Given the description of an element on the screen output the (x, y) to click on. 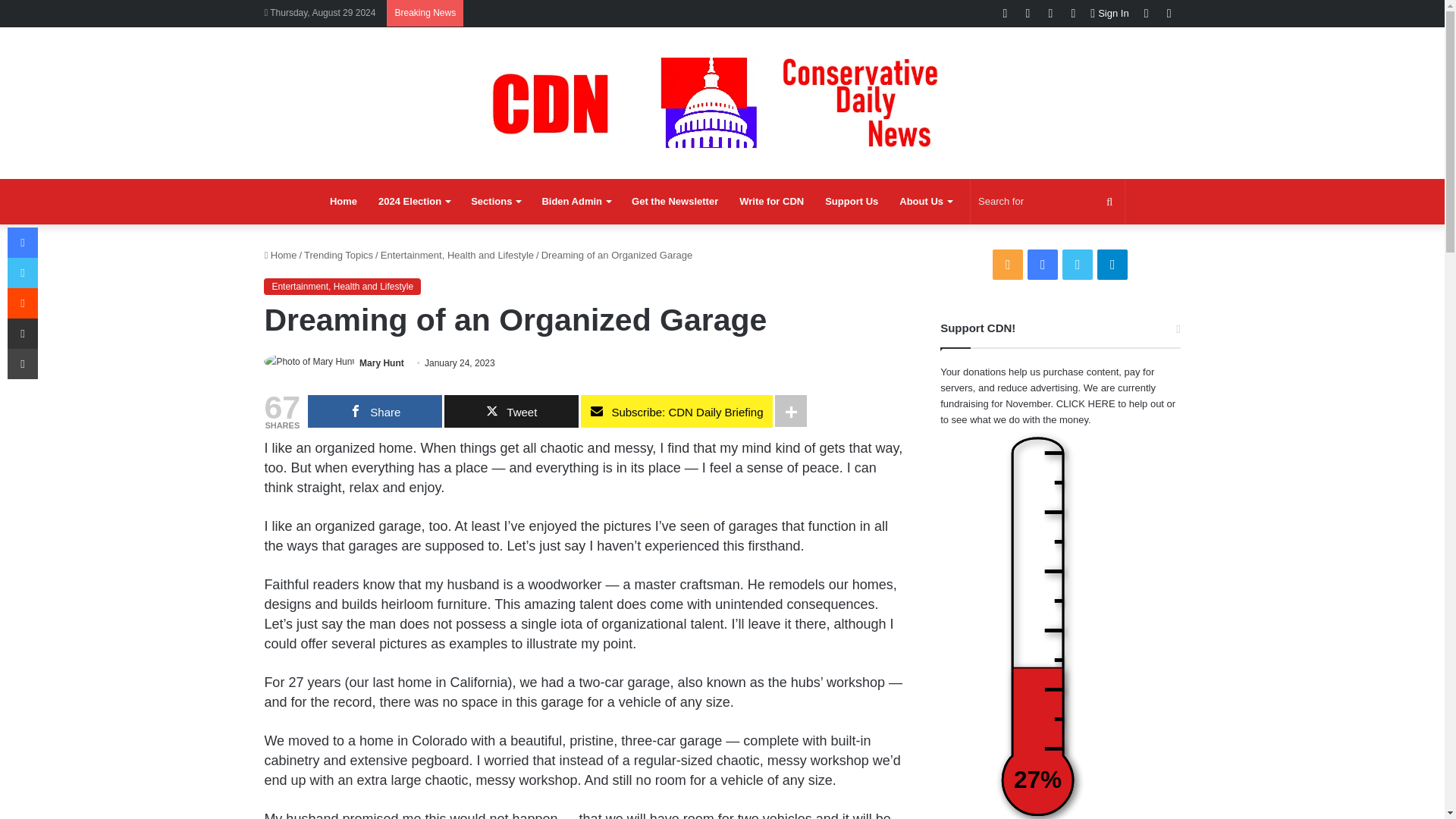
Conservative Daily News (721, 102)
Get the Newsletter (675, 201)
Home (343, 201)
Search for (1047, 201)
Support CDN With a Small Donation (850, 201)
Become a CDN Contributor (771, 201)
Sections (495, 201)
2024 Election (414, 201)
Biden Admin (576, 201)
Mary Hunt (381, 362)
